Given the description of an element on the screen output the (x, y) to click on. 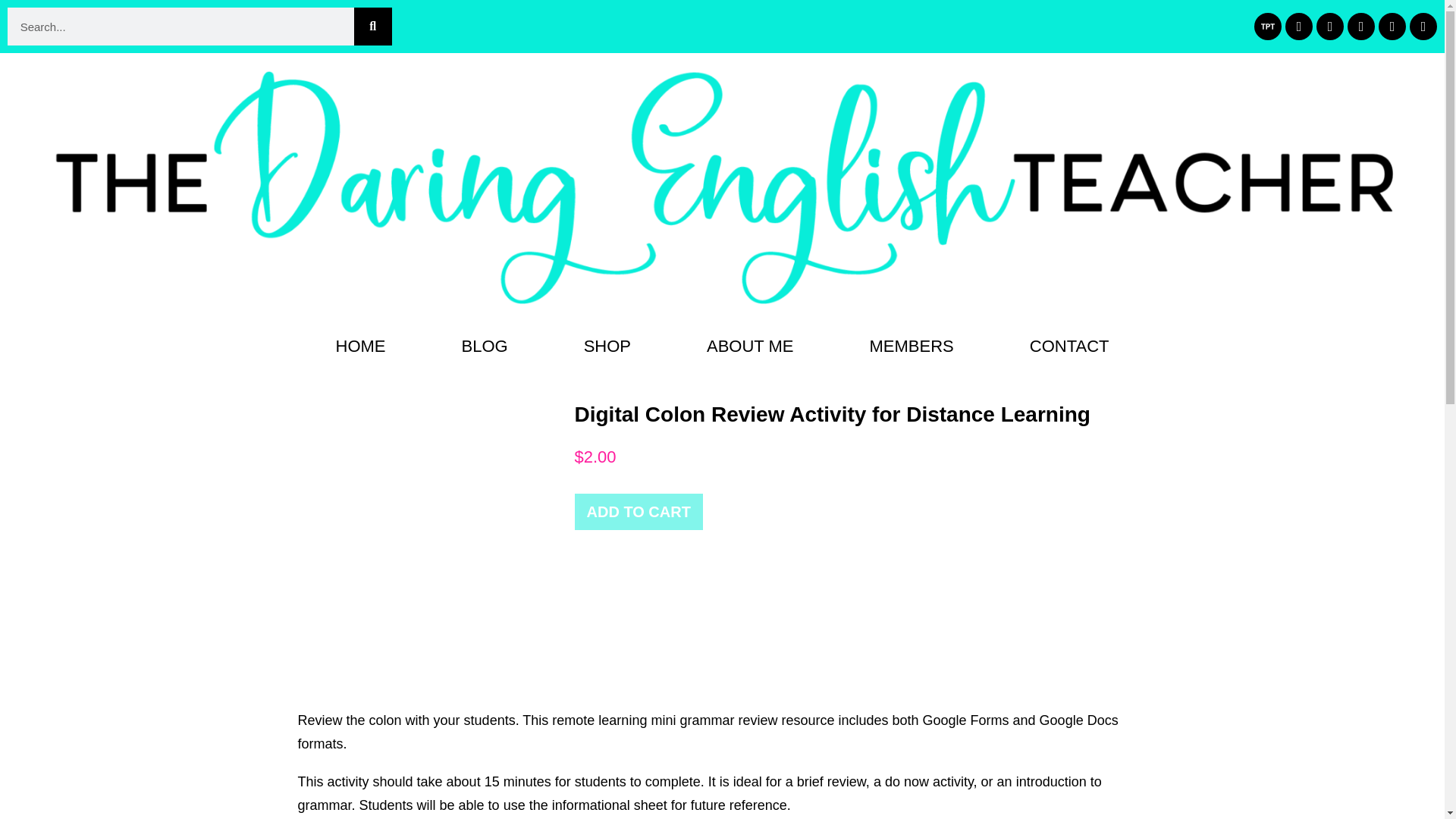
SHOP (607, 346)
BLOG (483, 346)
ADD TO CART (639, 511)
HOME (360, 346)
MEMBERS (911, 346)
ABOUT ME (749, 346)
CONTACT (1069, 346)
